Given the description of an element on the screen output the (x, y) to click on. 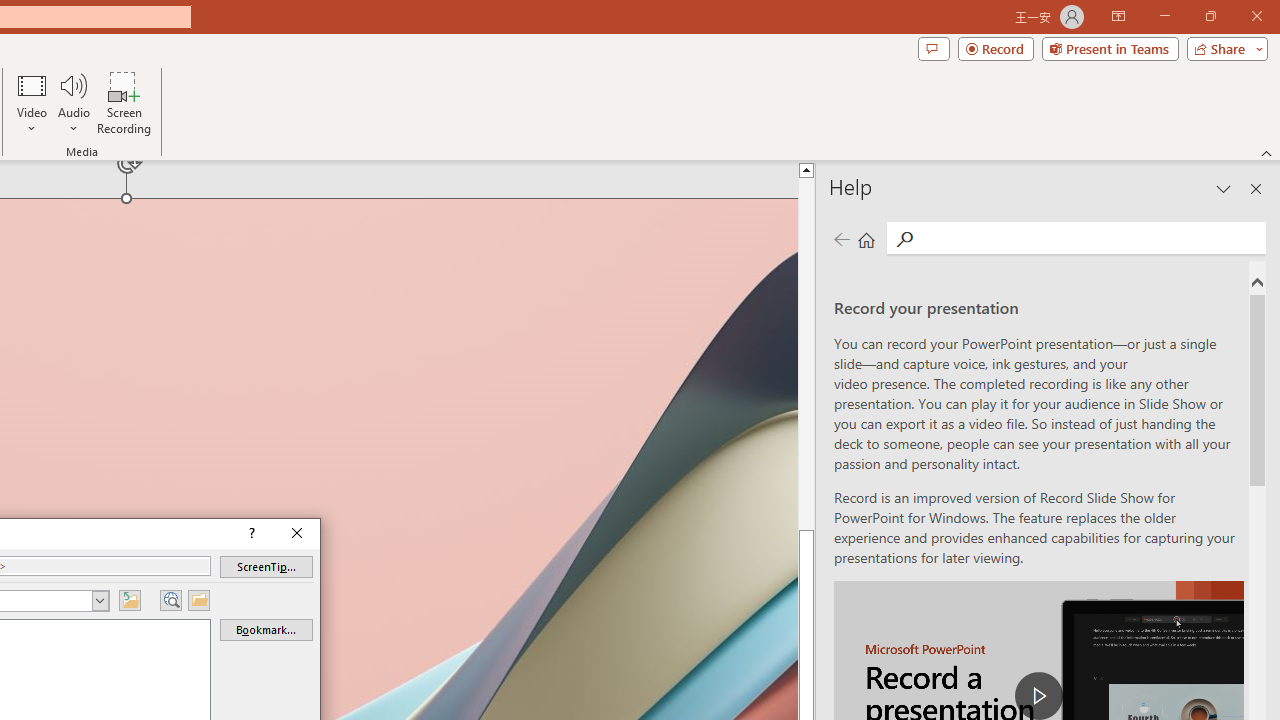
Screen Recording... (123, 102)
Previous page (841, 238)
Browse for File (198, 600)
